Given the description of an element on the screen output the (x, y) to click on. 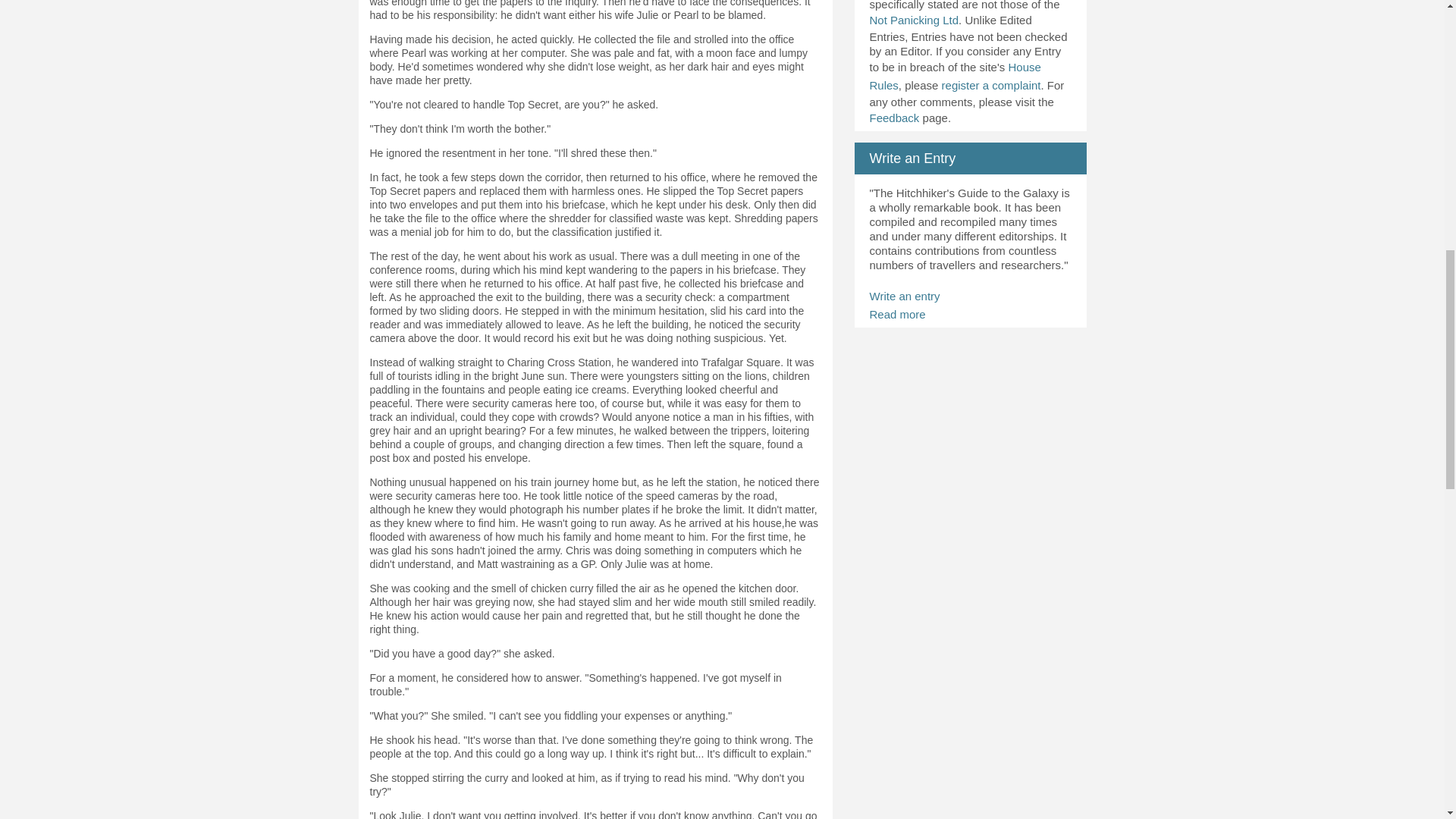
How to Contribute (896, 314)
Feedback (893, 117)
register a complaint (991, 84)
Write an Entry (912, 158)
House Rules (955, 75)
Write an Entry (912, 158)
Register a complaint (991, 84)
Write an entry (904, 295)
Feedback (893, 117)
Write an entry (904, 295)
